Given the description of an element on the screen output the (x, y) to click on. 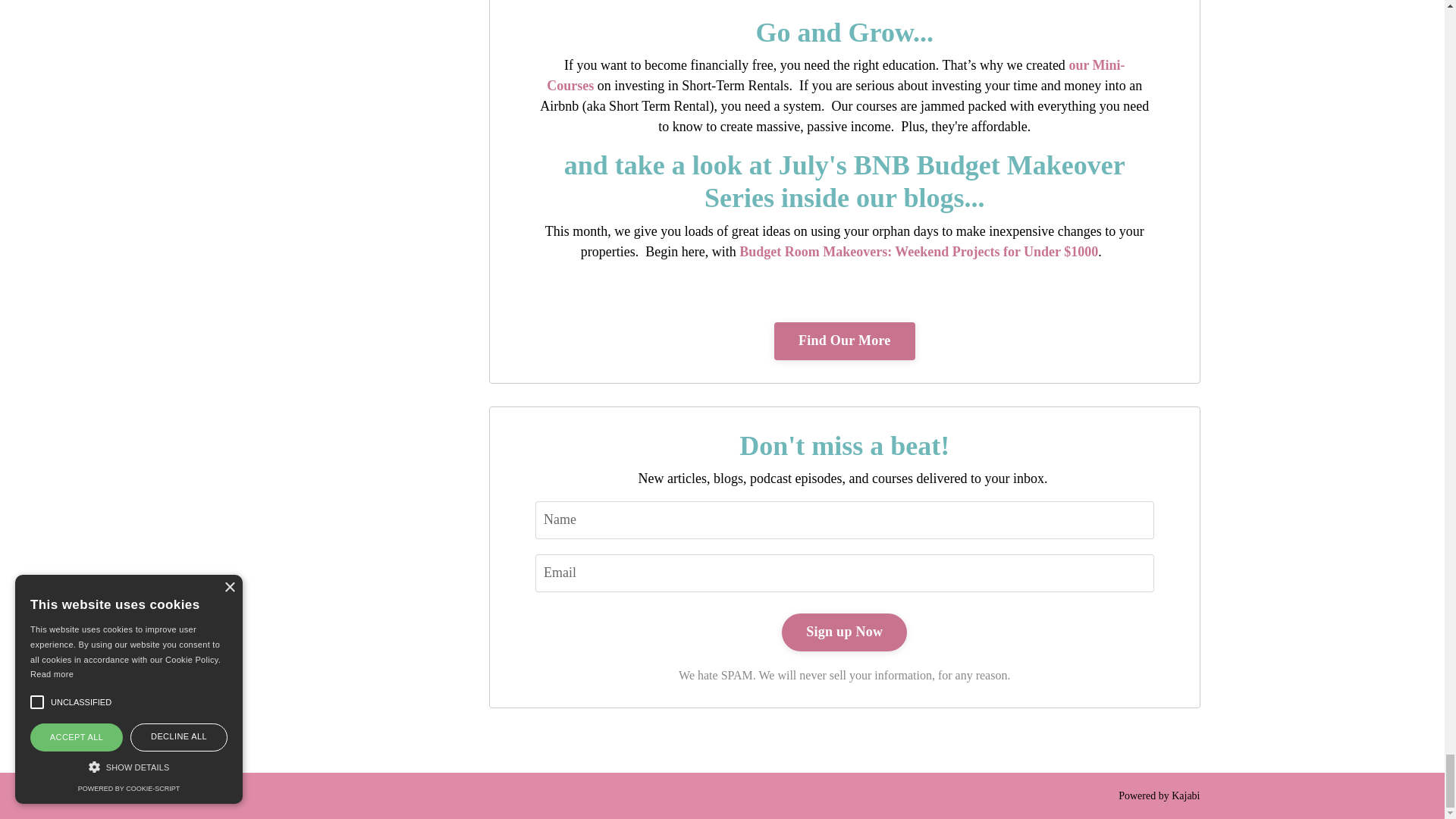
Sign up Now (844, 632)
Sign up Now (844, 632)
 our Mini-Courses (835, 75)
Our Mini-Courses (835, 75)
Find Our More (844, 341)
Budget Room Makeovers (918, 251)
Powered by Kajabi (1158, 795)
